Given the description of an element on the screen output the (x, y) to click on. 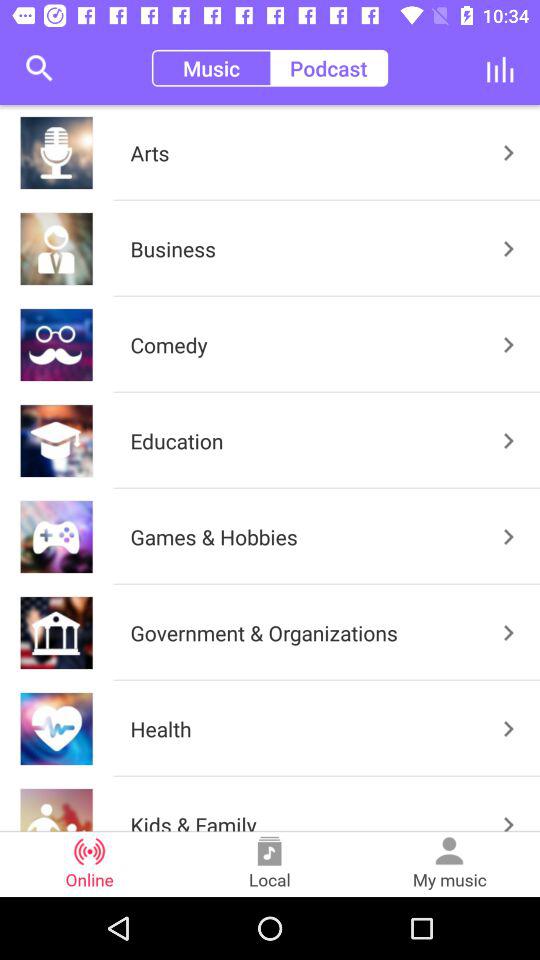
open the item next to the local (90, 863)
